Given the description of an element on the screen output the (x, y) to click on. 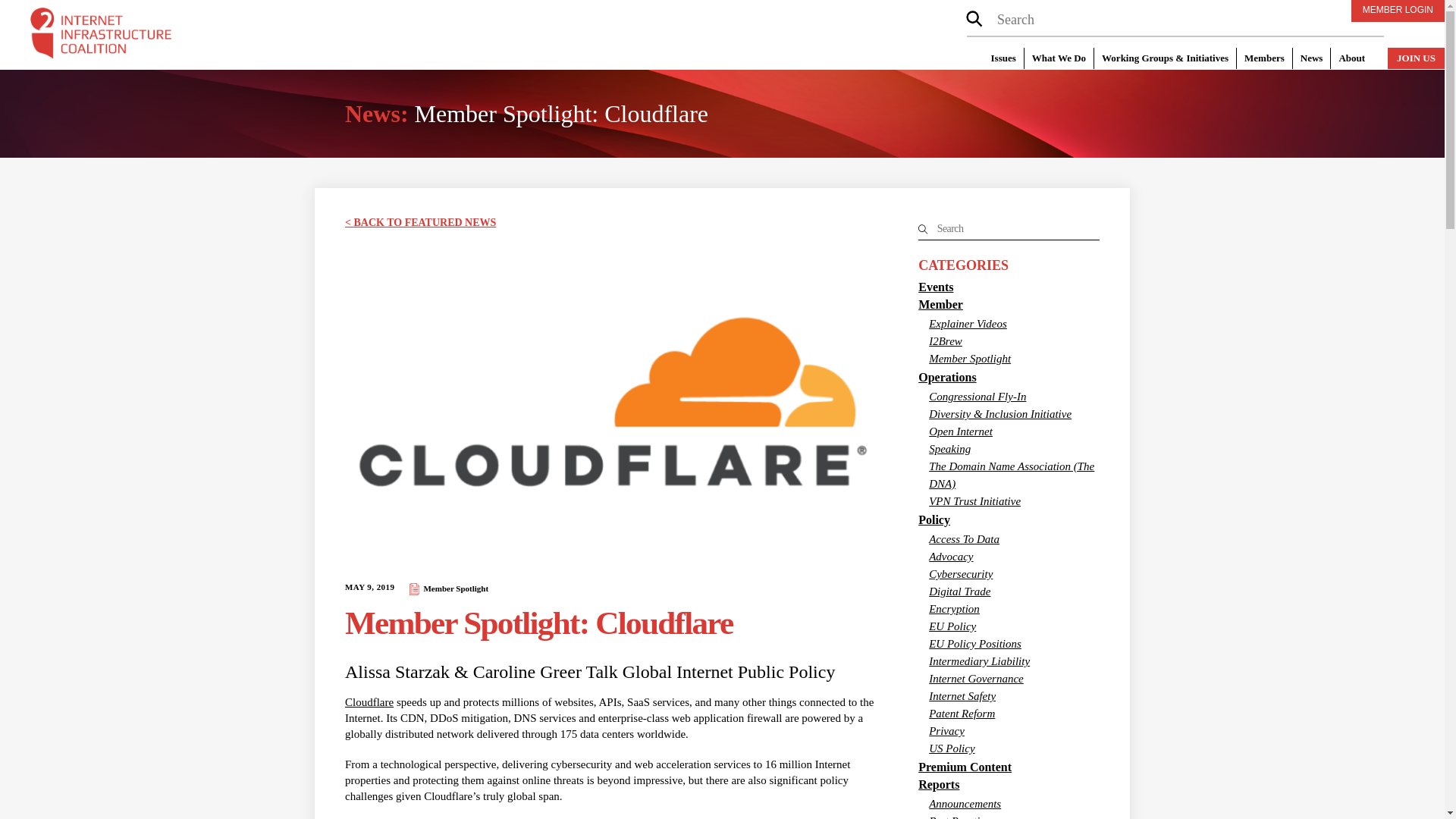
Search (1175, 20)
Members (1264, 57)
i2Coalition (100, 36)
Search (1008, 229)
What We Do (1058, 57)
Issues (1003, 57)
About (1351, 57)
News (1311, 57)
